Given the description of an element on the screen output the (x, y) to click on. 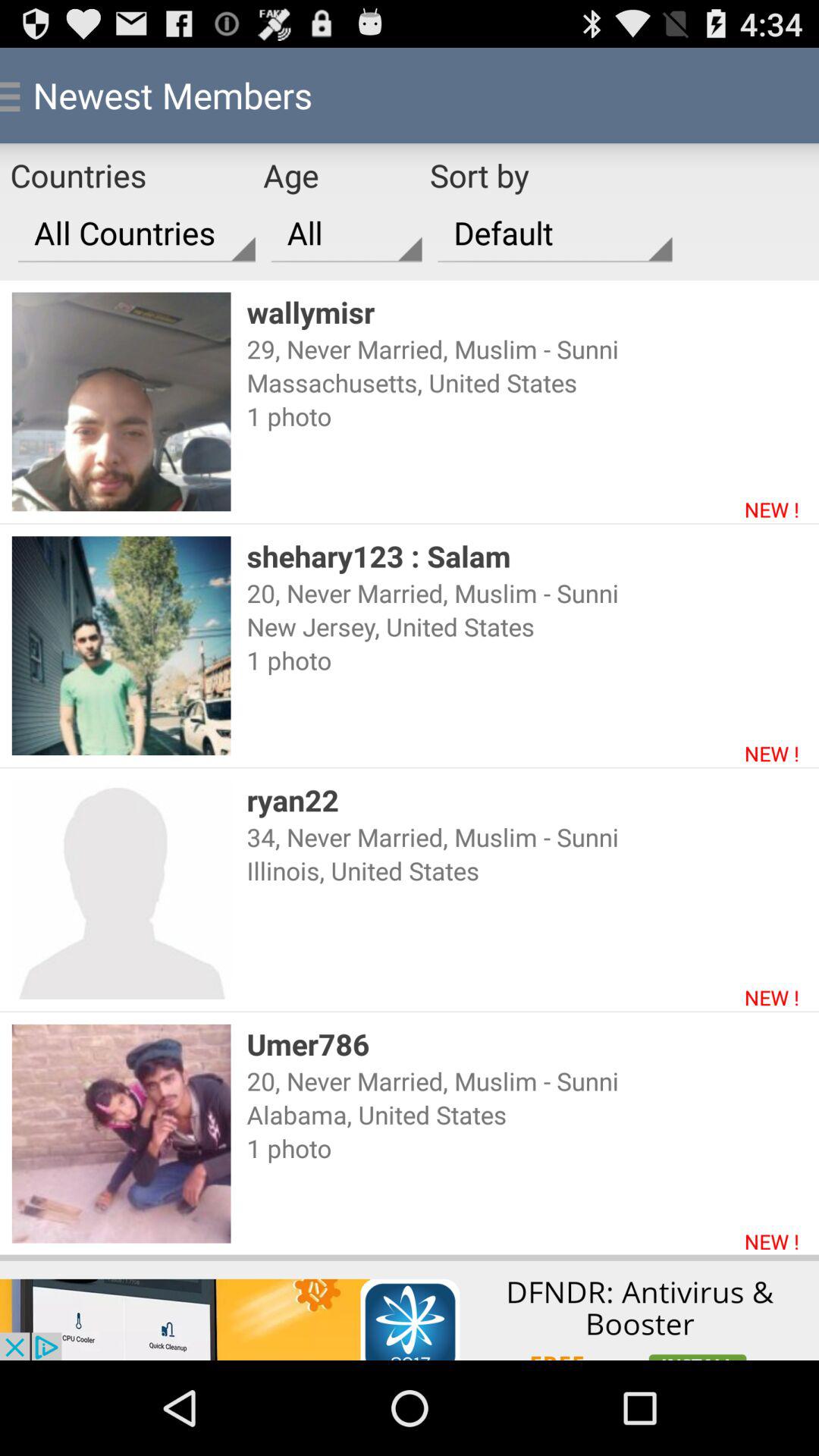
go to all countries (136, 232)
